Given the description of an element on the screen output the (x, y) to click on. 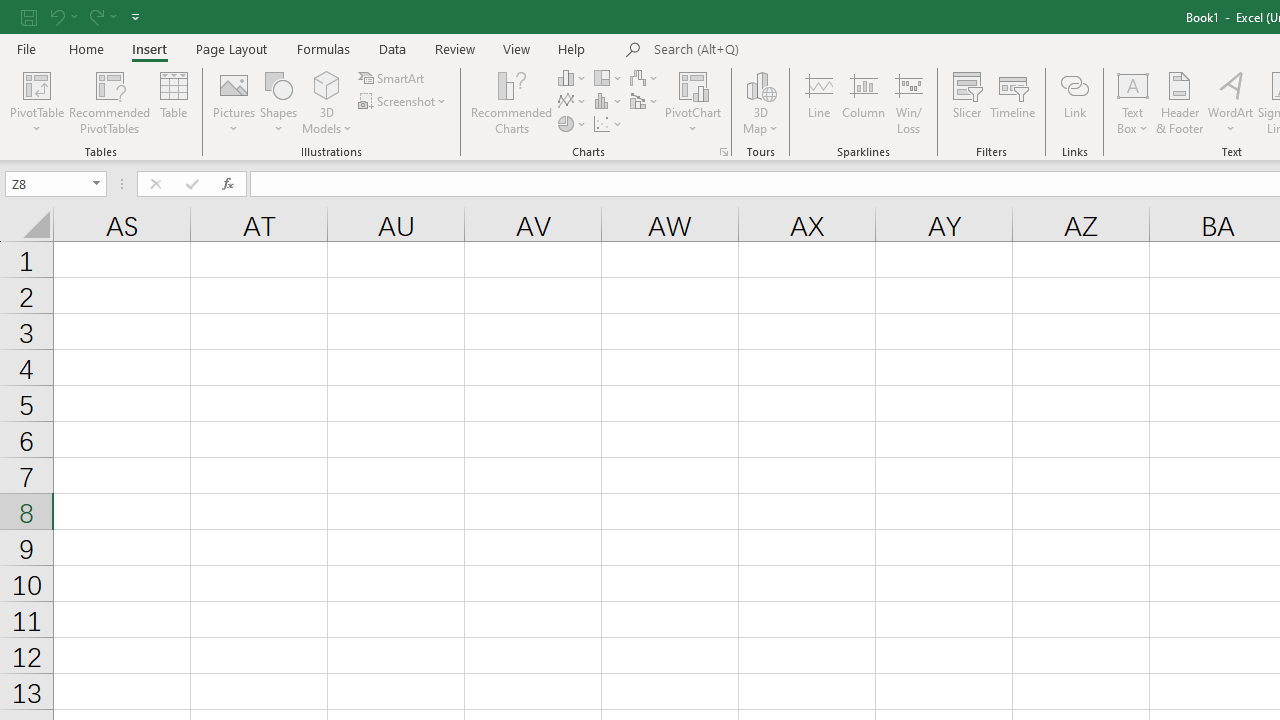
Microsoft search (792, 49)
Data (392, 48)
File Tab (26, 48)
Win/Loss (909, 102)
Link (1074, 102)
Screenshot (403, 101)
Column (863, 102)
Text Box (1133, 102)
Home (86, 48)
Recommended Charts (723, 151)
View (517, 48)
Insert Scatter (X, Y) or Bubble Chart (609, 124)
Table (173, 102)
Formulas (323, 48)
